Given the description of an element on the screen output the (x, y) to click on. 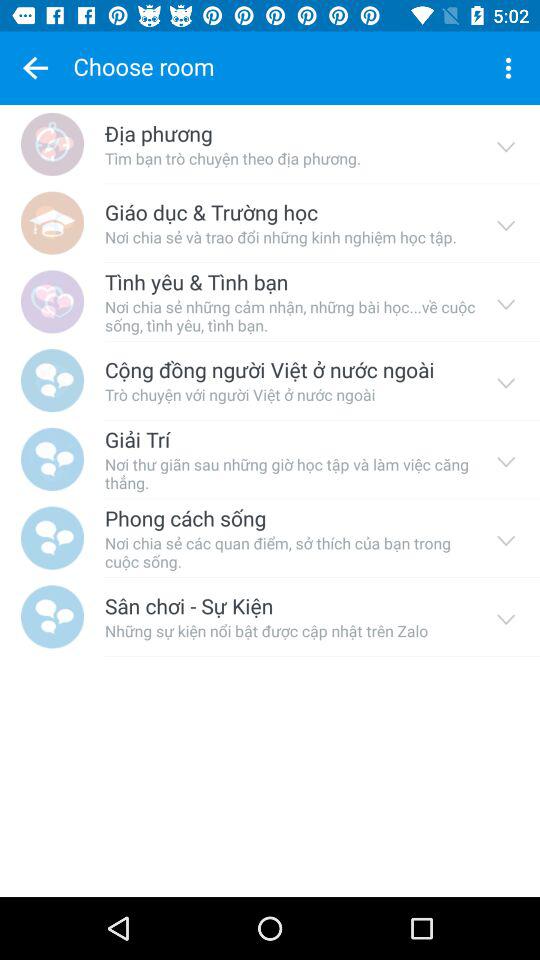
to go back (35, 68)
